Given the description of an element on the screen output the (x, y) to click on. 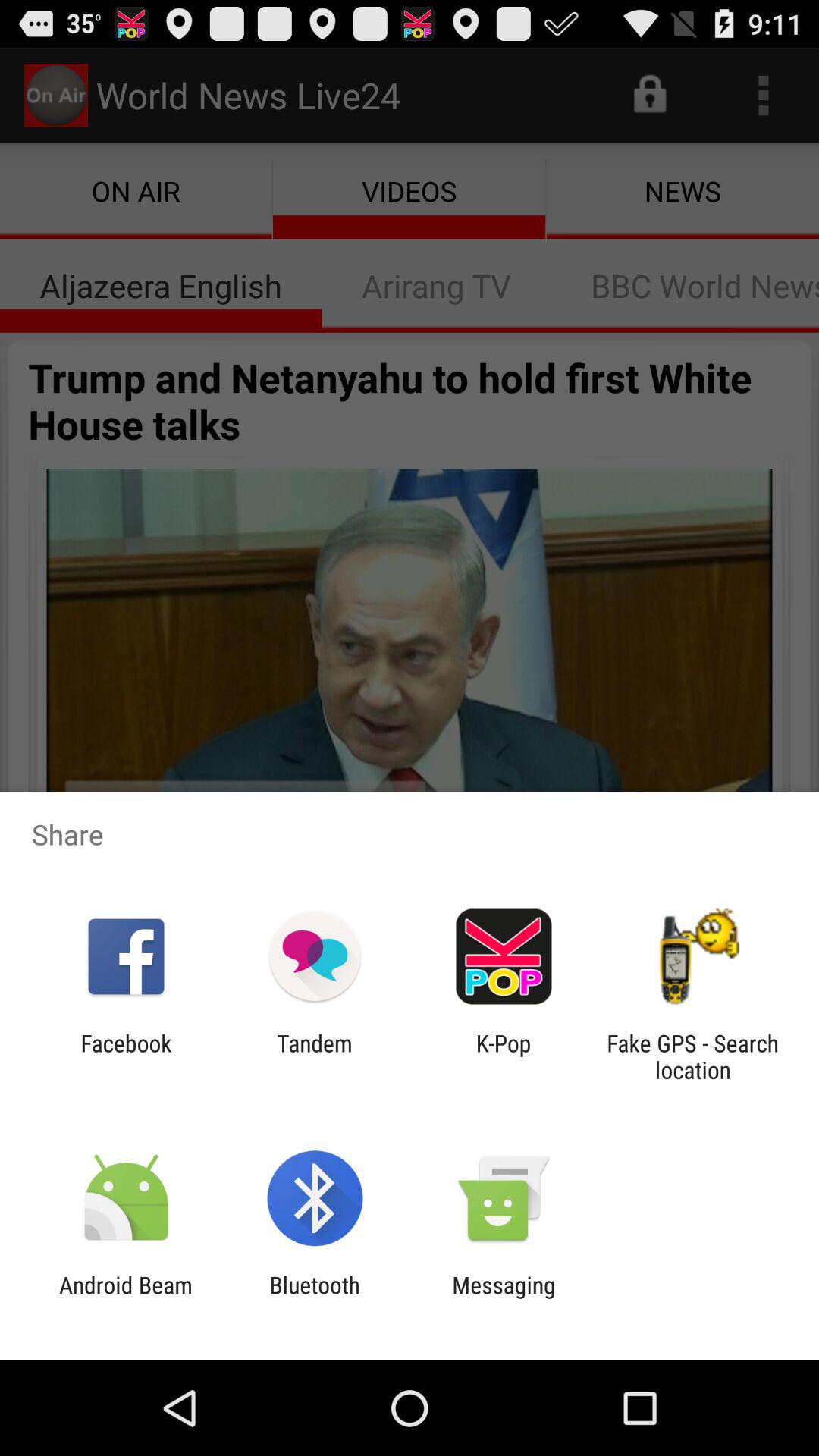
press the item to the right of the facebook icon (314, 1056)
